Given the description of an element on the screen output the (x, y) to click on. 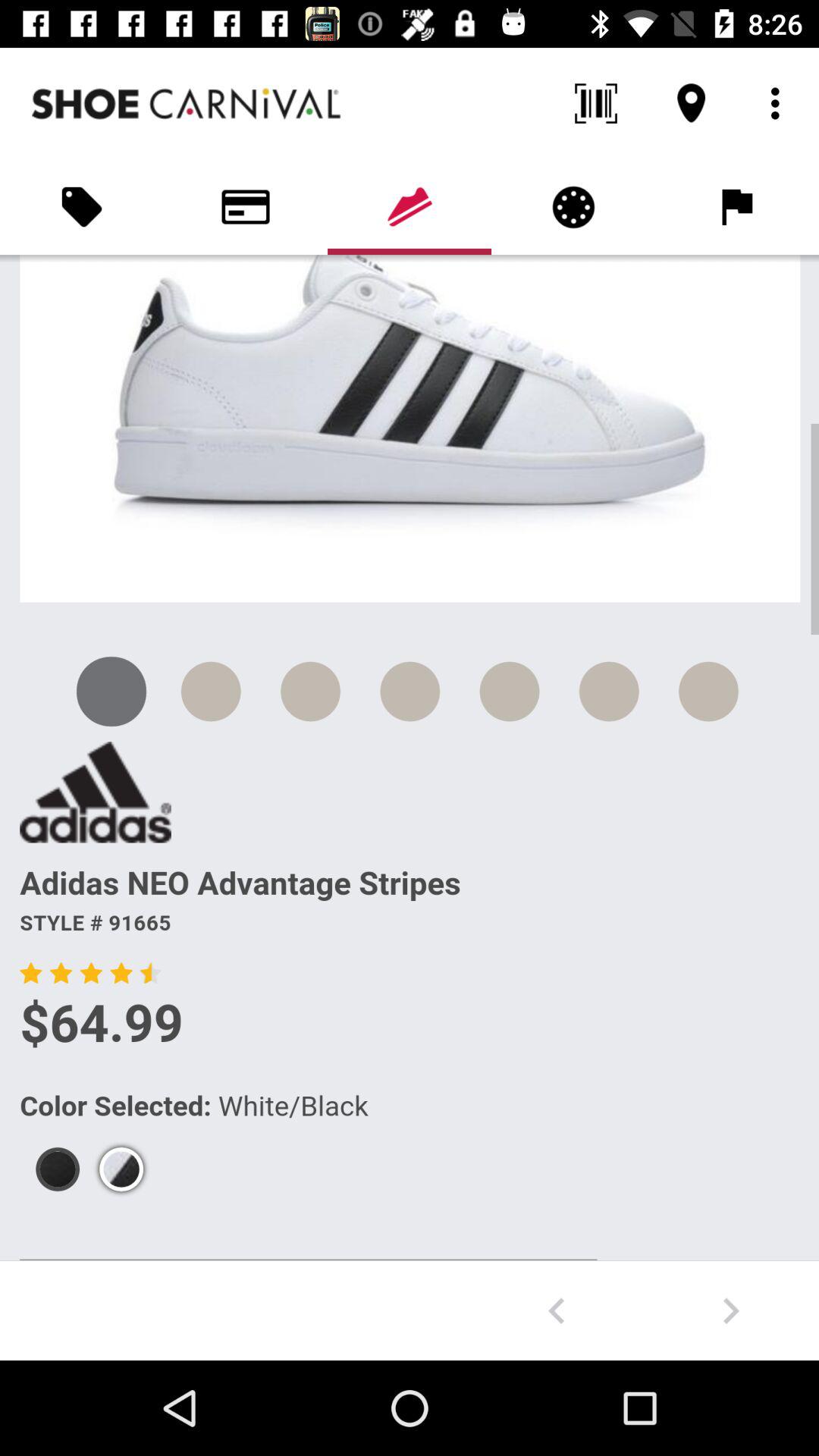
slide the image (555, 1310)
